Given the description of an element on the screen output the (x, y) to click on. 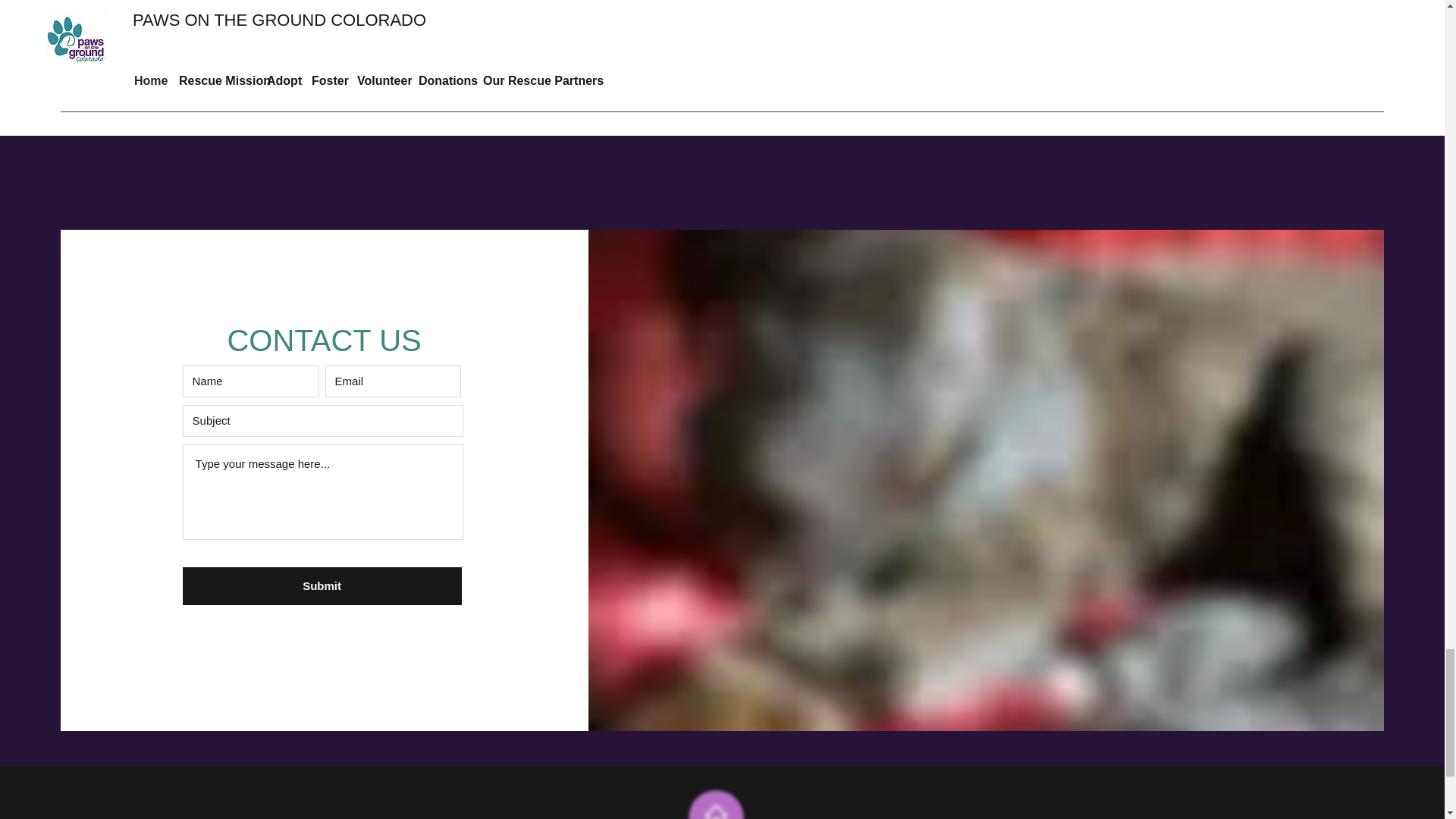
Details (722, 60)
Submit (322, 586)
